Given the description of an element on the screen output the (x, y) to click on. 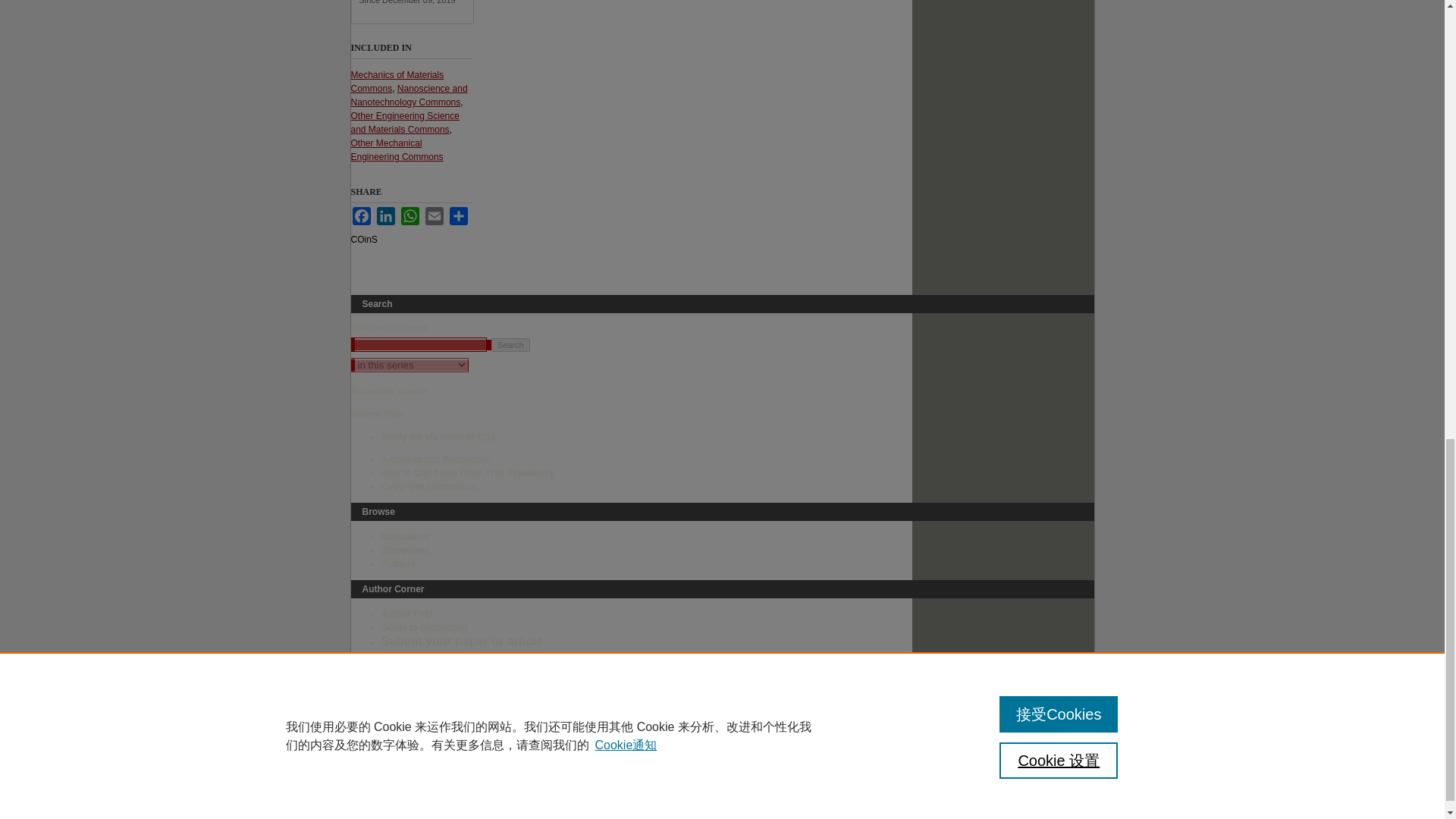
Search (510, 345)
Other Engineering Science and Materials Commons (404, 122)
Other Engineering Science and Materials Commons (404, 122)
Mechanics of Materials Commons (397, 81)
Search (510, 345)
WhatsApp (409, 216)
Search (510, 345)
Search Help (376, 413)
Nanoscience and Nanotechnology Commons (408, 95)
LinkedIn (385, 216)
Other Mechanical Engineering Commons (396, 150)
Mechanics of Materials Commons (397, 81)
Email (433, 216)
Nanoscience and Nanotechnology Commons (408, 95)
Other Mechanical Engineering Commons (396, 150)
